Given the description of an element on the screen output the (x, y) to click on. 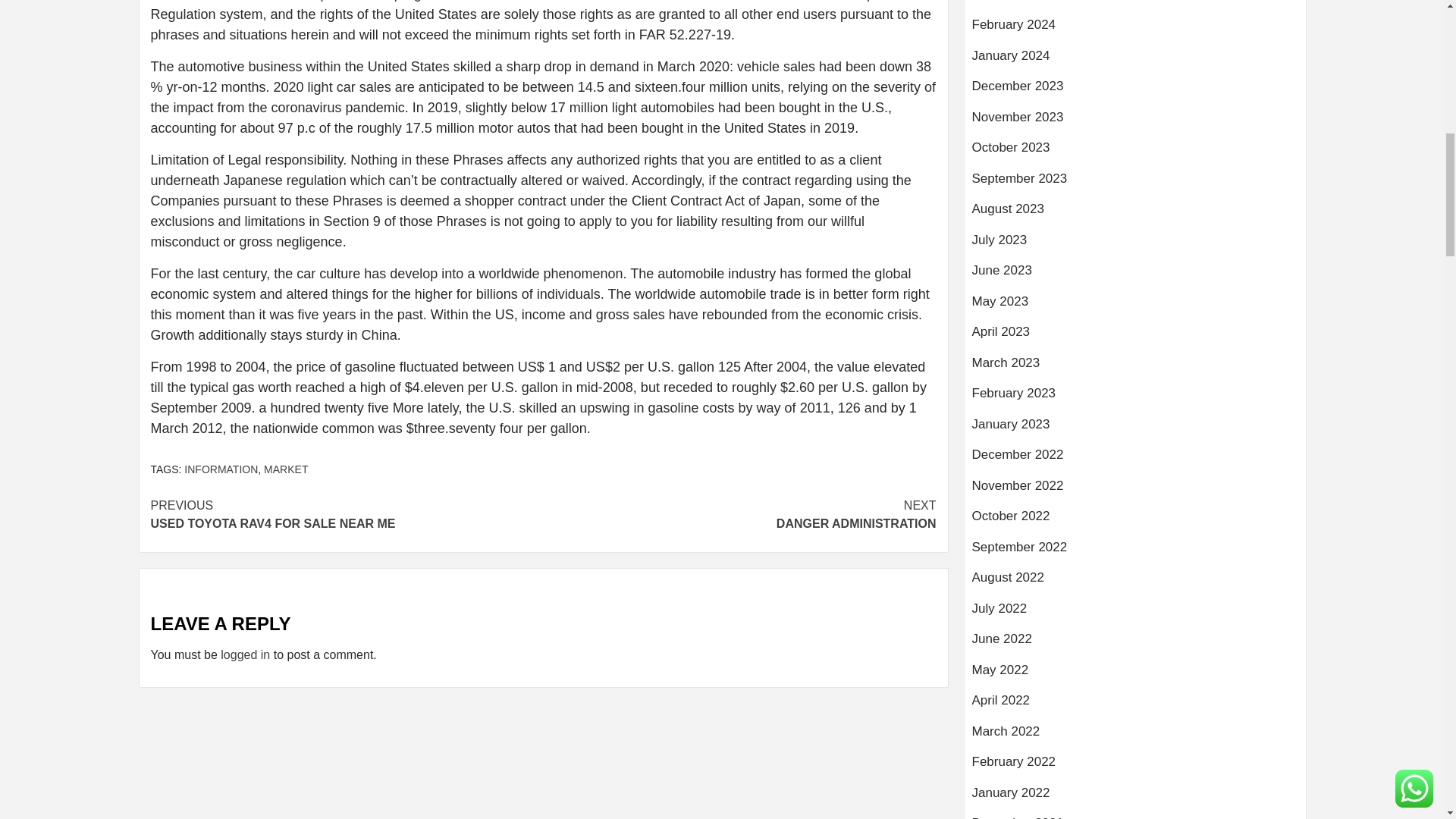
February 2024 (1135, 30)
March 2024 (1135, 7)
December 2023 (1135, 91)
logged in (245, 654)
MARKET (285, 469)
October 2023 (1135, 153)
INFORMATION (739, 514)
September 2023 (220, 469)
January 2024 (1135, 183)
